Given the description of an element on the screen output the (x, y) to click on. 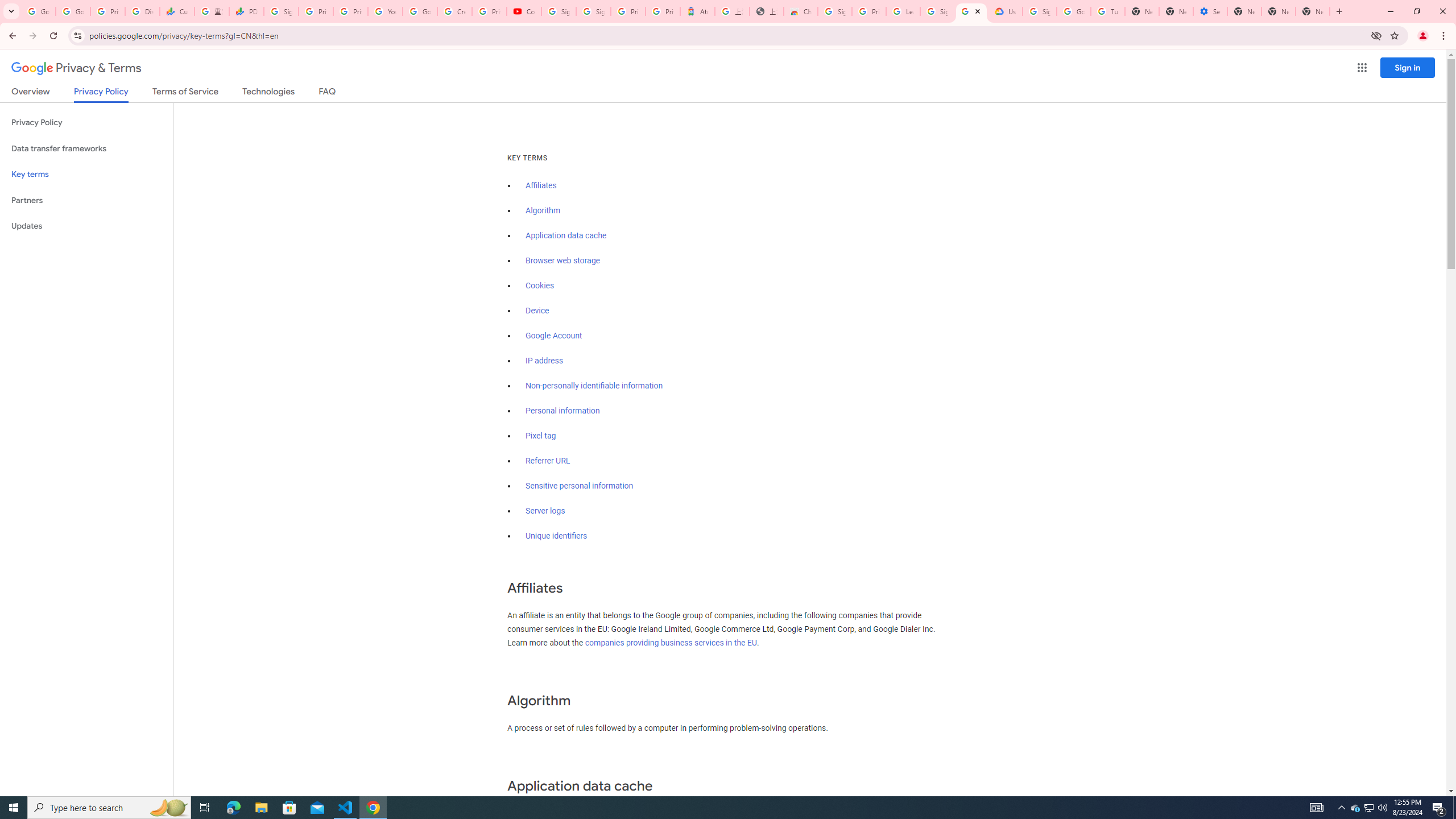
Google Account Help (419, 11)
Browser web storage (562, 260)
Sensitive personal information (579, 486)
Atour Hotel - Google hotels (697, 11)
companies providing business services in the EU (671, 642)
Google Account Help (1073, 11)
Currencies - Google Finance (176, 11)
Server logs (544, 511)
